Given the description of an element on the screen output the (x, y) to click on. 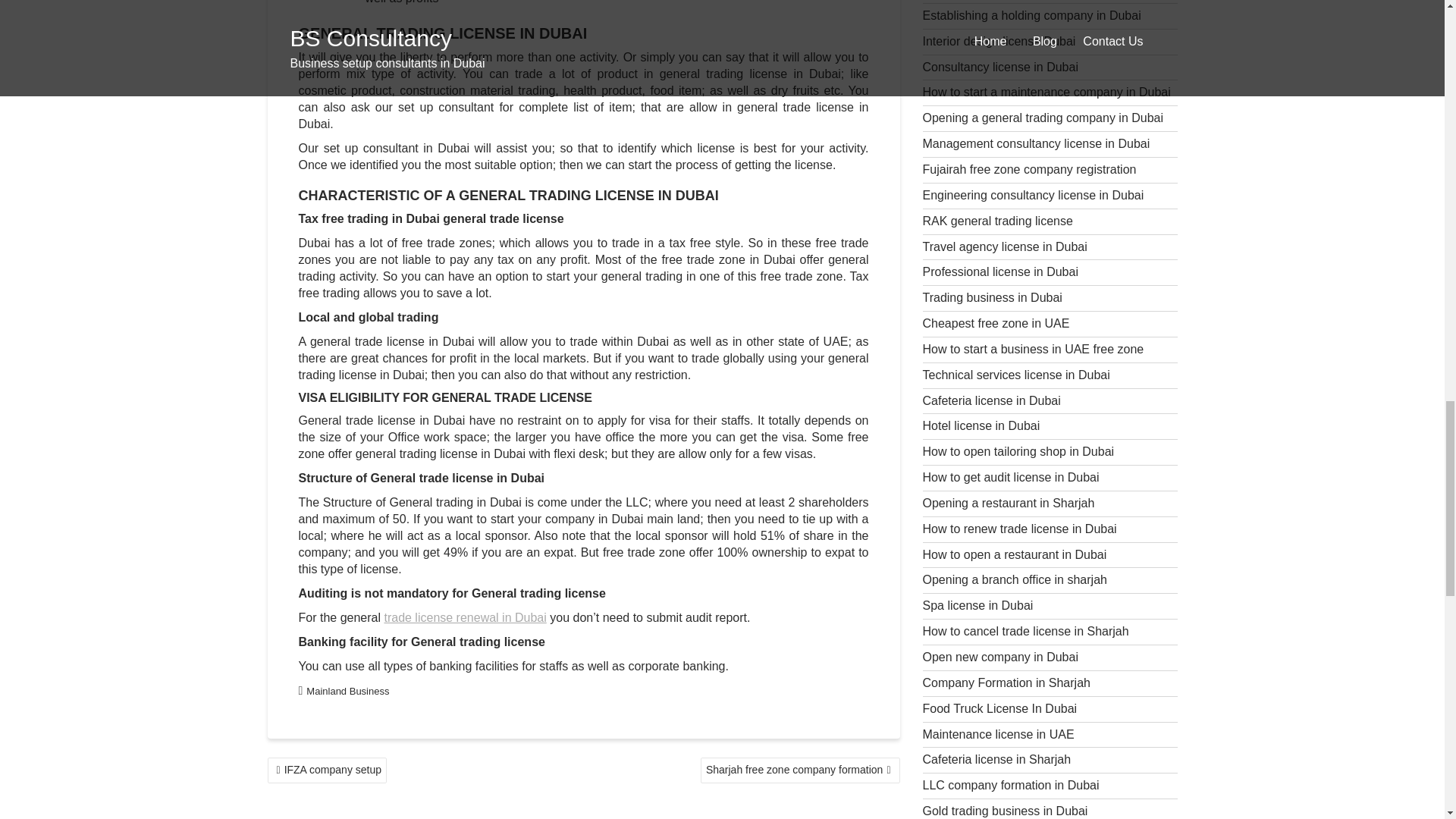
IFZA company setup (326, 769)
Sharjah free zone company formation (799, 769)
Mainland Business (346, 690)
trade license renewal in Dubai (465, 617)
